Given the description of an element on the screen output the (x, y) to click on. 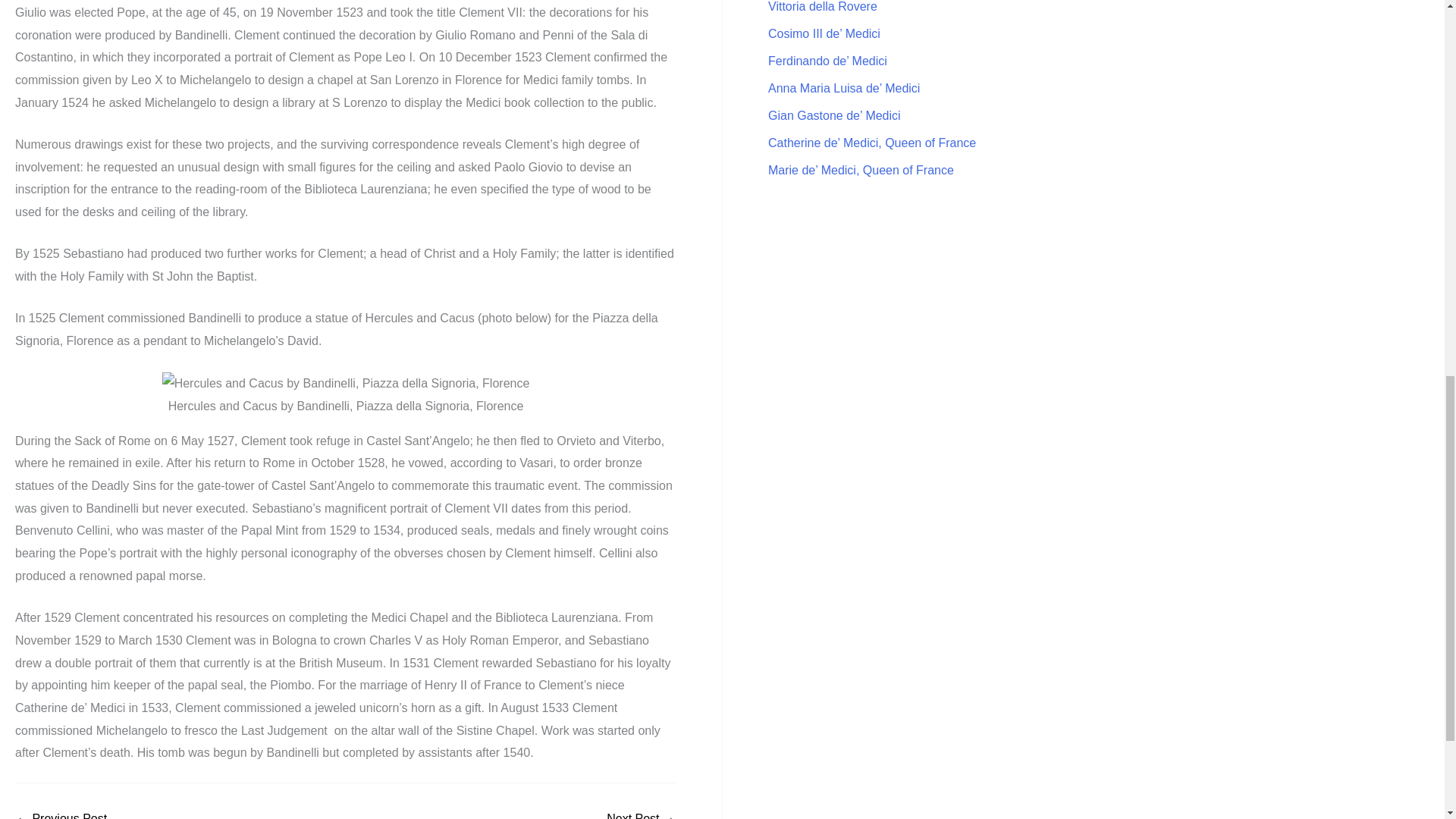
Vittoria della Rovere (822, 6)
